Given the description of an element on the screen output the (x, y) to click on. 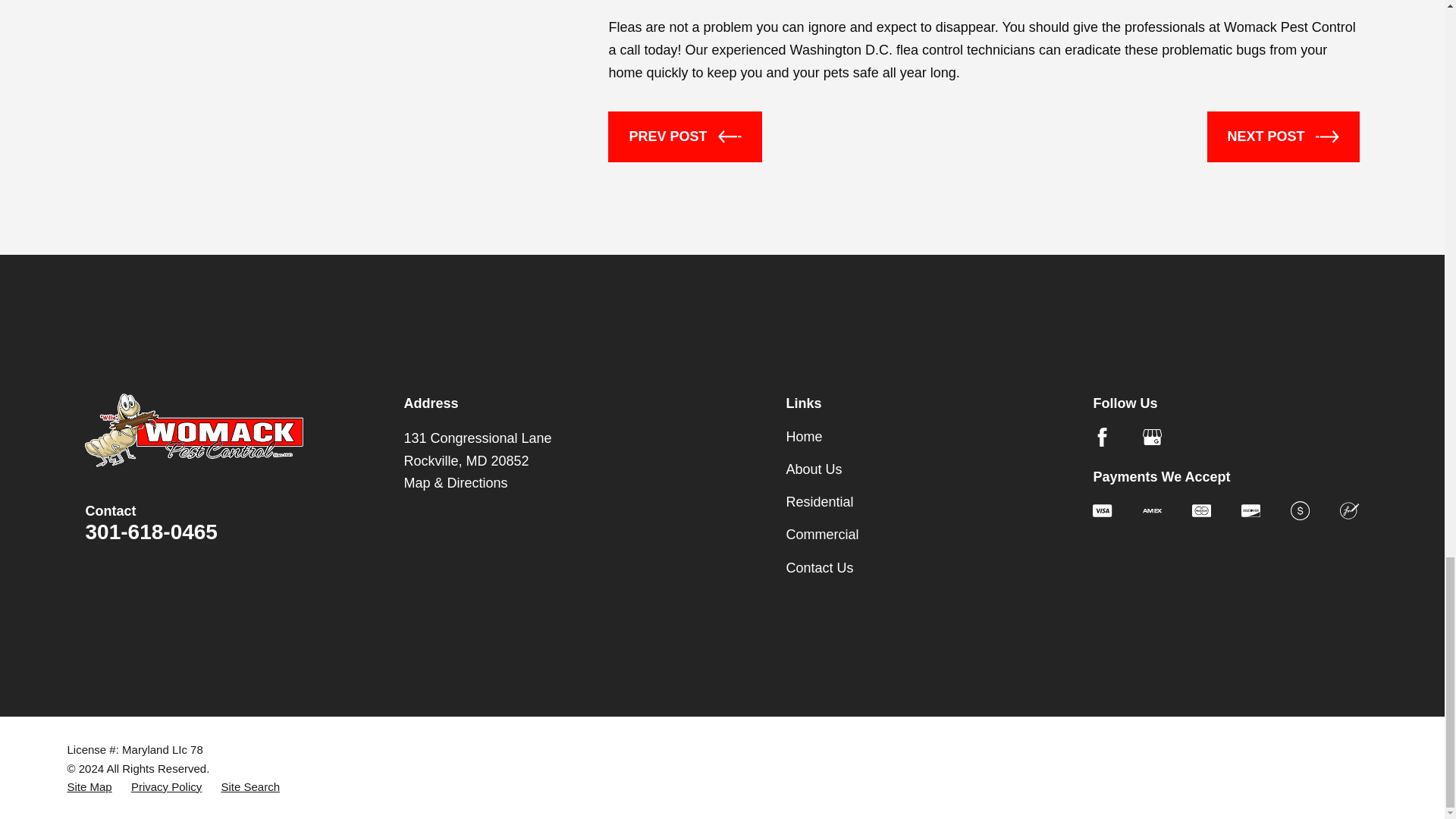
MasterCard (1201, 510)
Home (193, 429)
Cash (1299, 510)
Facebook (1102, 436)
AMEX (1151, 510)
Discover (1250, 510)
Google Business Profile (1151, 436)
Visa (1102, 510)
